Given the description of an element on the screen output the (x, y) to click on. 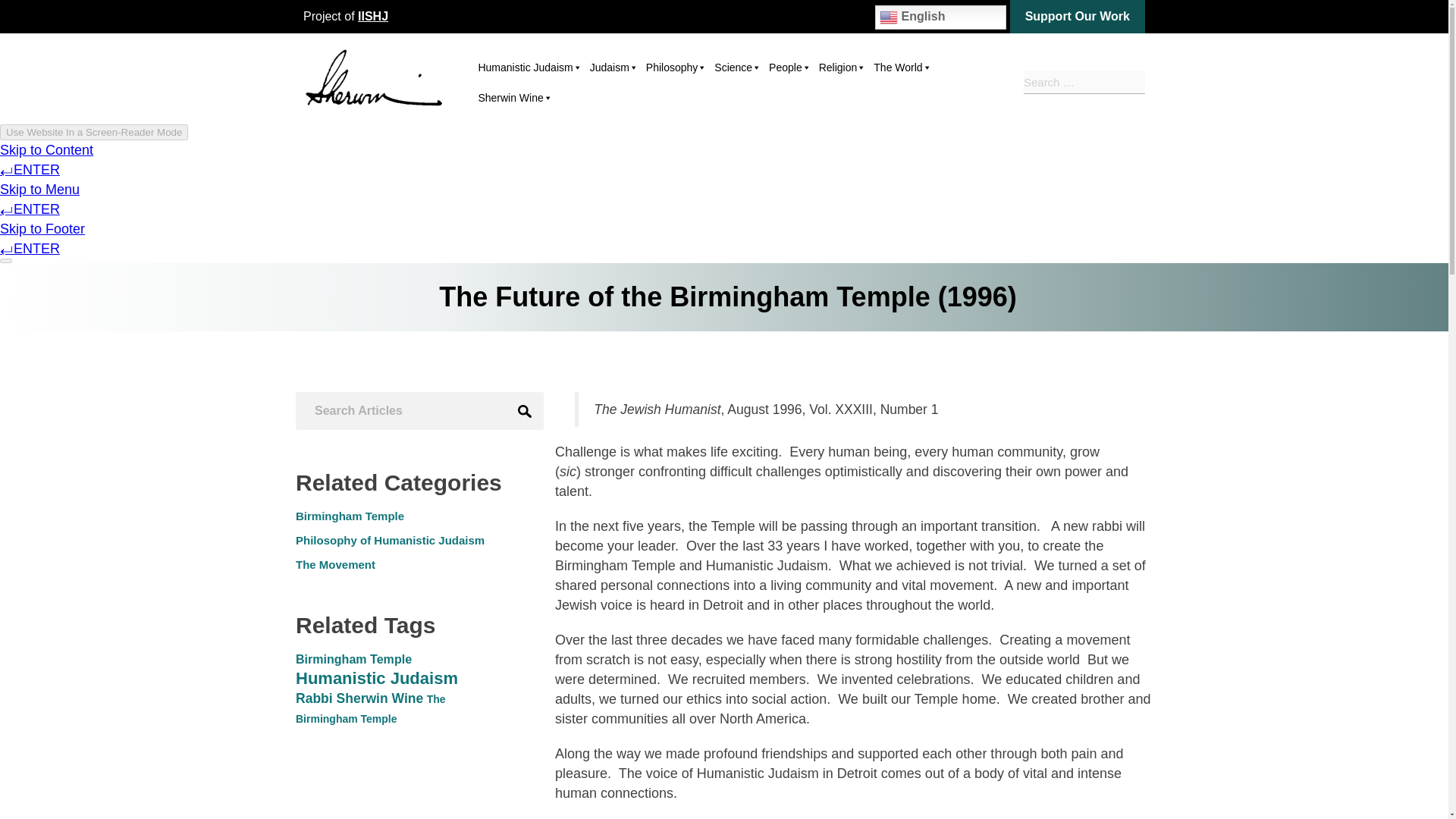
Search (524, 410)
Search (1134, 80)
Search (1134, 80)
Search (524, 410)
